Given the description of an element on the screen output the (x, y) to click on. 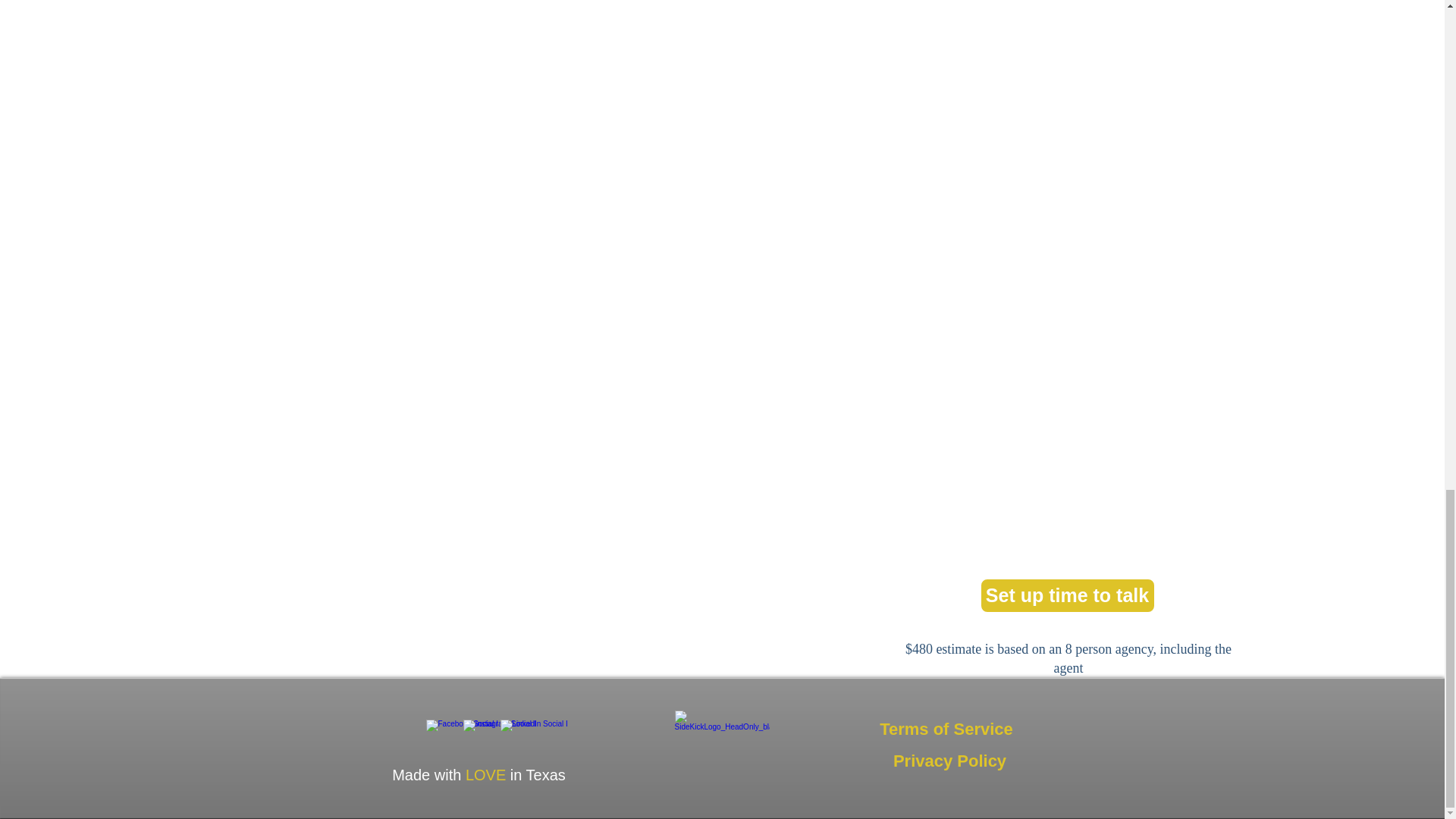
Set up time to talk (1067, 595)
Privacy Policy (950, 761)
Terms of Service (946, 729)
